Given the description of an element on the screen output the (x, y) to click on. 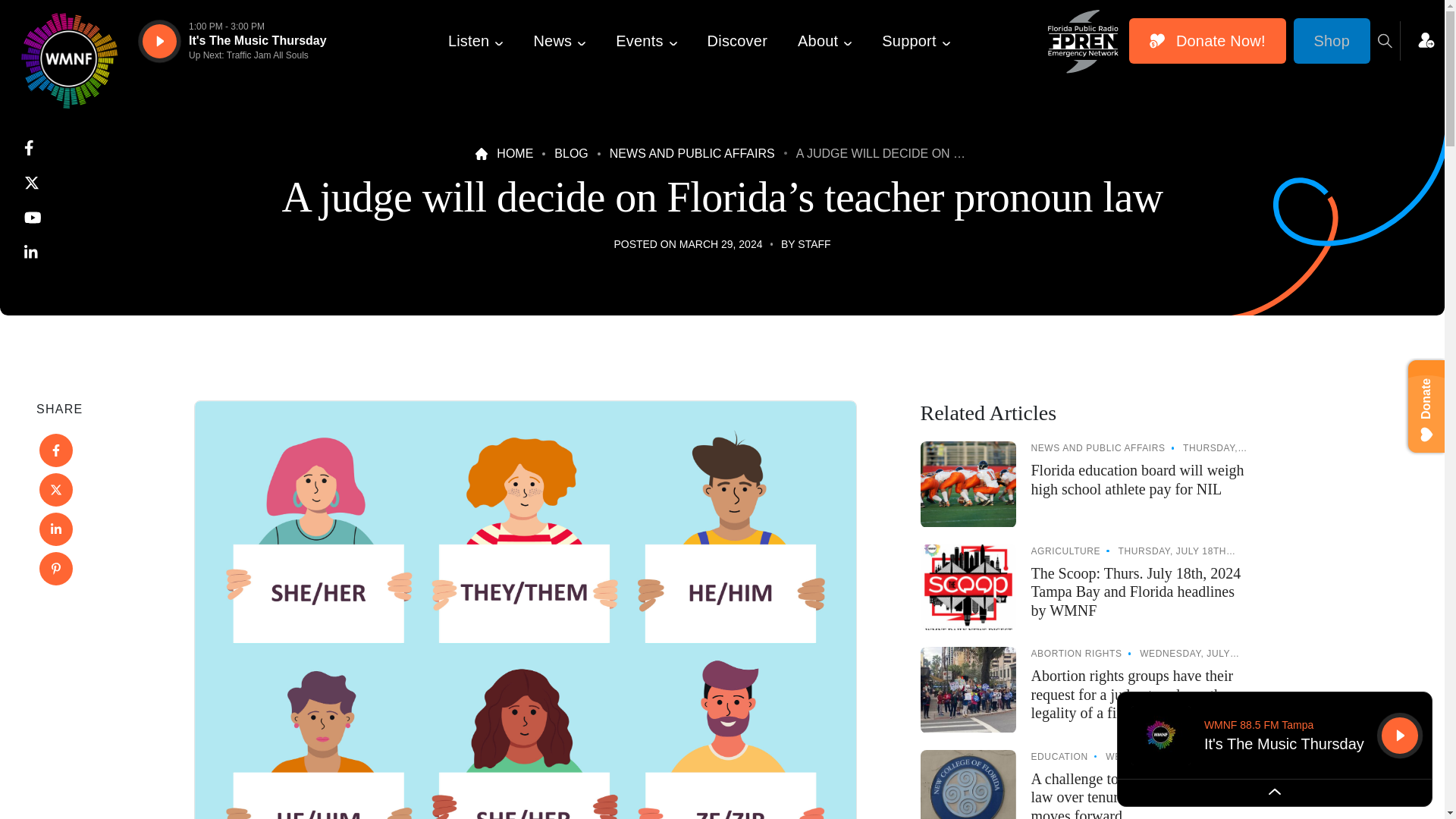
Listen to WMNF (159, 41)
It's The Music Thursday (257, 40)
